Given the description of an element on the screen output the (x, y) to click on. 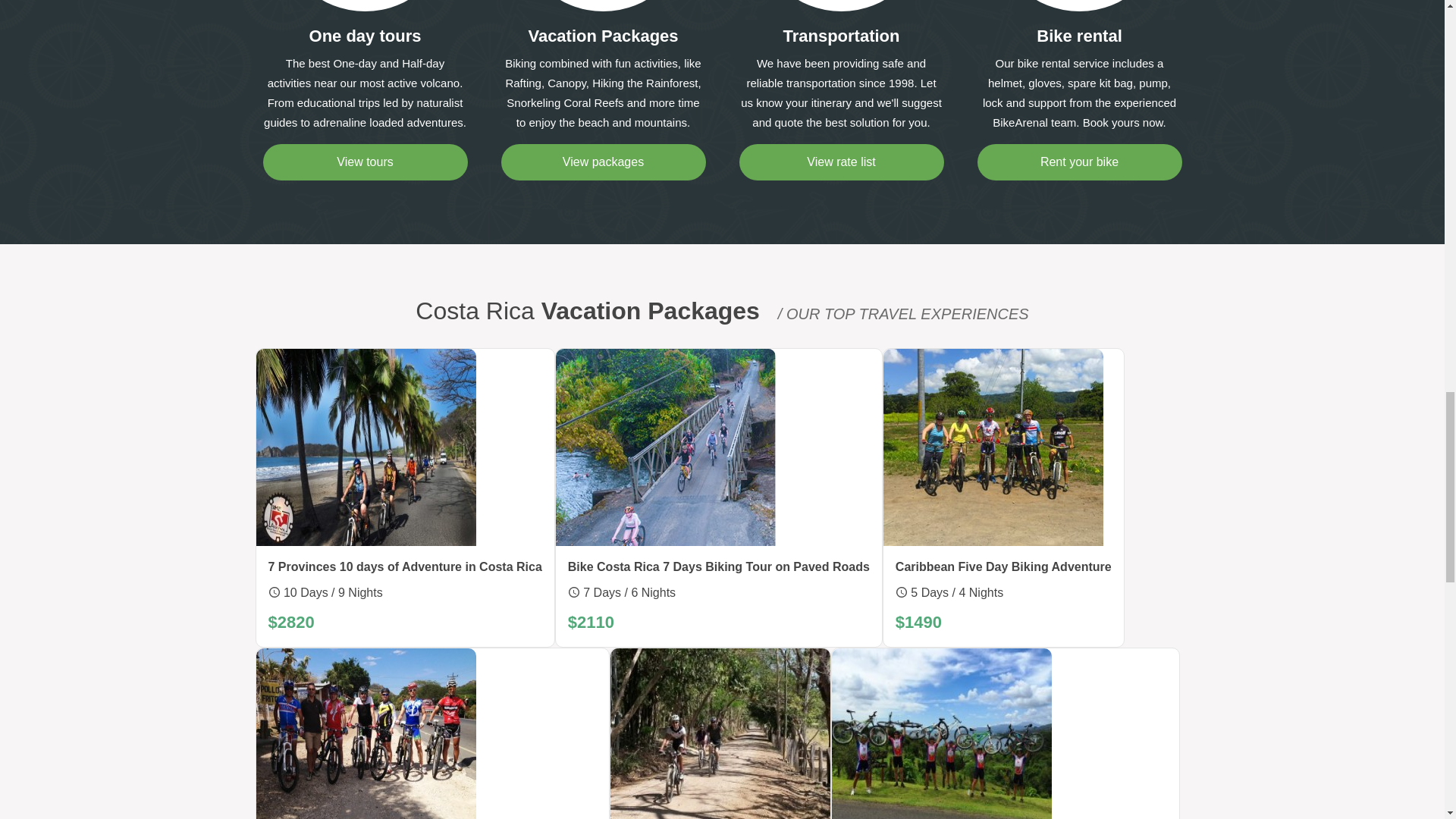
7 Provinces 10 days of Adventure in Costa Rica (404, 566)
